Given the description of an element on the screen output the (x, y) to click on. 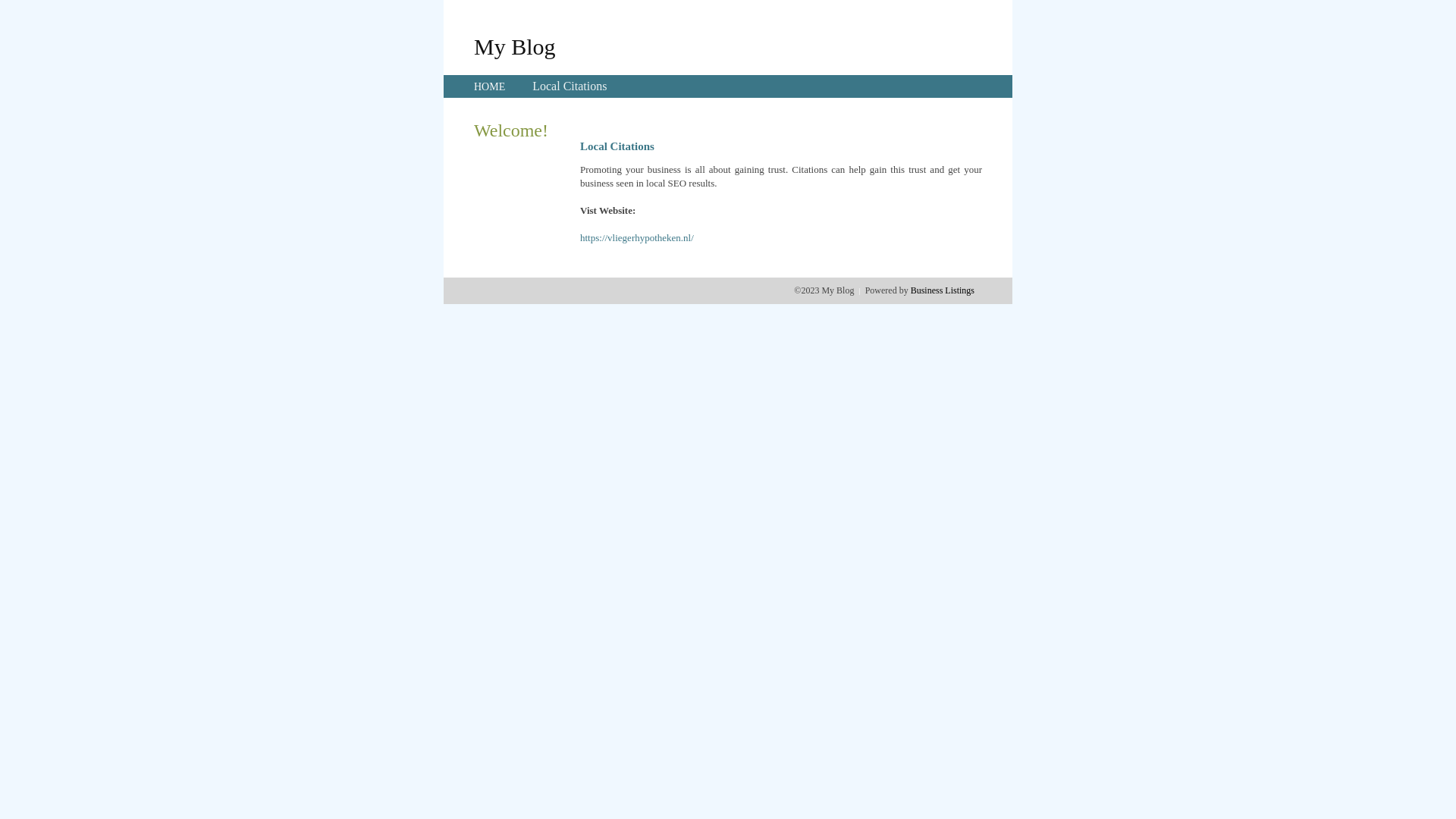
Business Listings Element type: text (942, 290)
HOME Element type: text (489, 86)
My Blog Element type: text (514, 46)
https://vliegerhypotheken.nl/ Element type: text (636, 237)
Local Citations Element type: text (569, 85)
